Given the description of an element on the screen output the (x, y) to click on. 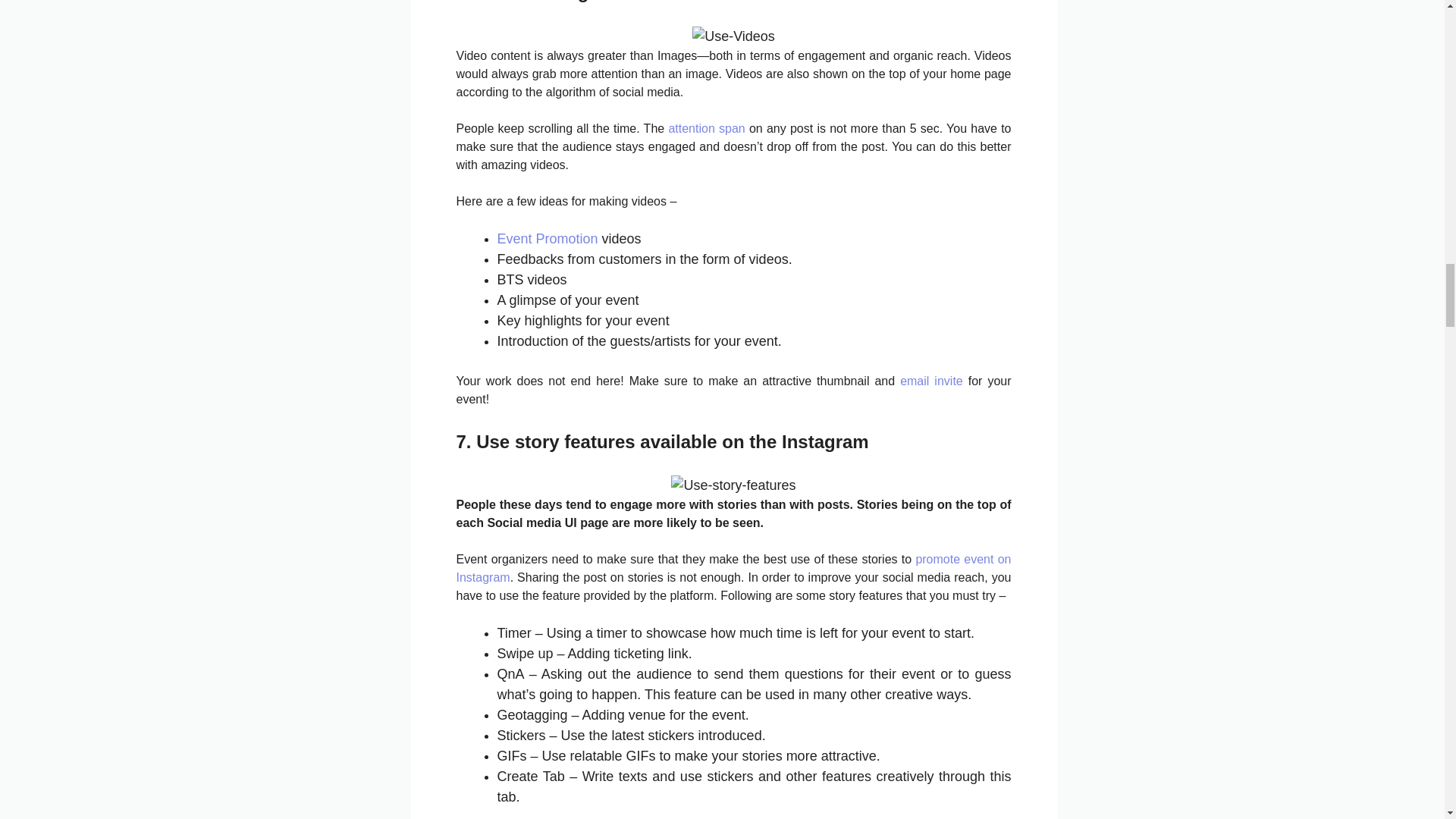
email invite (930, 380)
Event Promotion (547, 237)
use all story features on social media (732, 485)
Post videos to promote event on social media (733, 35)
promote event on Instagram (734, 567)
attention span (706, 127)
